Given the description of an element on the screen output the (x, y) to click on. 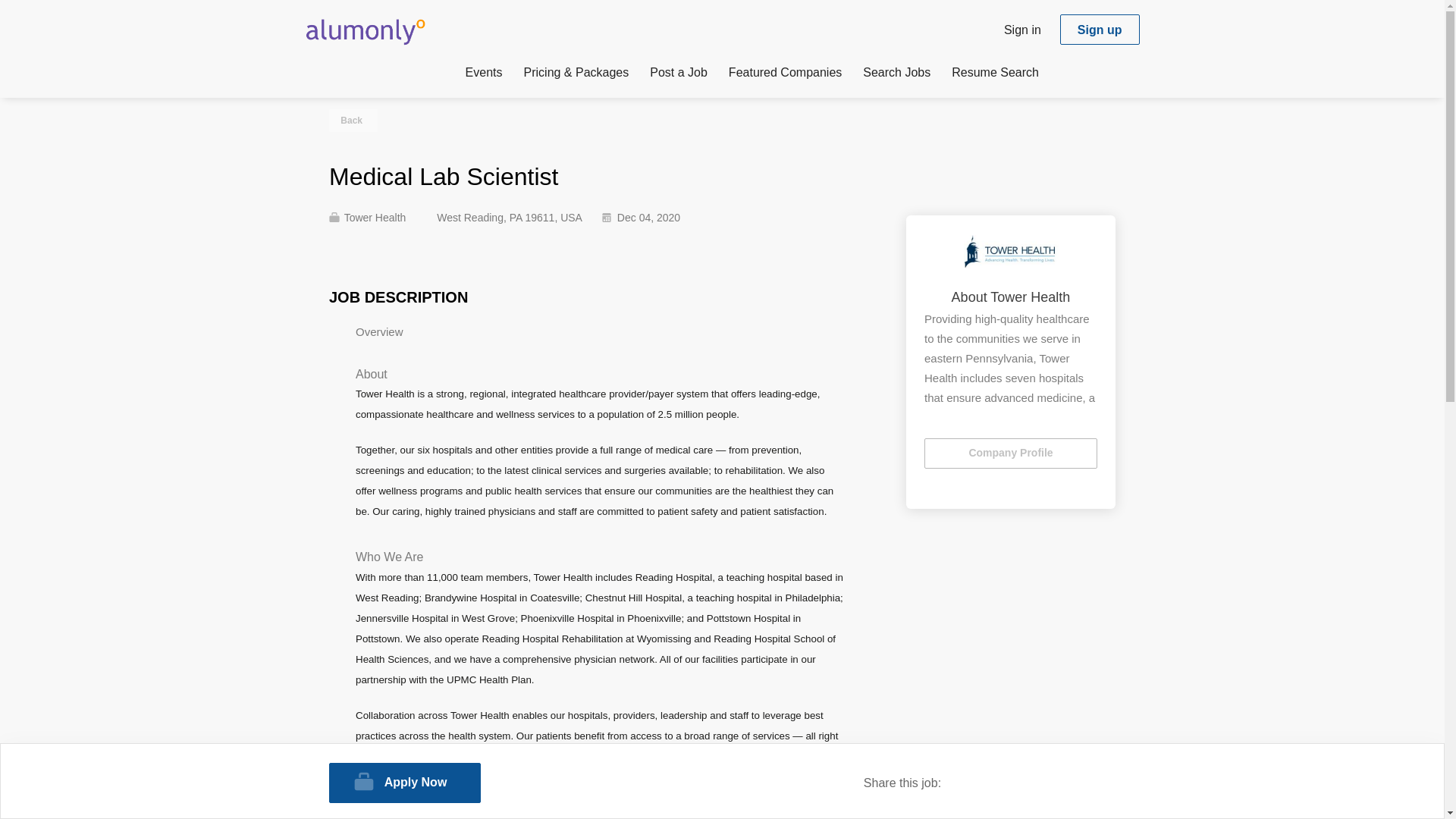
Resume Search (995, 75)
Events (483, 75)
Save (579, 176)
Search Jobs (896, 75)
Featured Companies (785, 75)
Sign in (1022, 28)
Sign up (1099, 29)
Post a Job (678, 75)
Apply Now (404, 782)
Company Profile (1010, 453)
Back (353, 119)
